Given the description of an element on the screen output the (x, y) to click on. 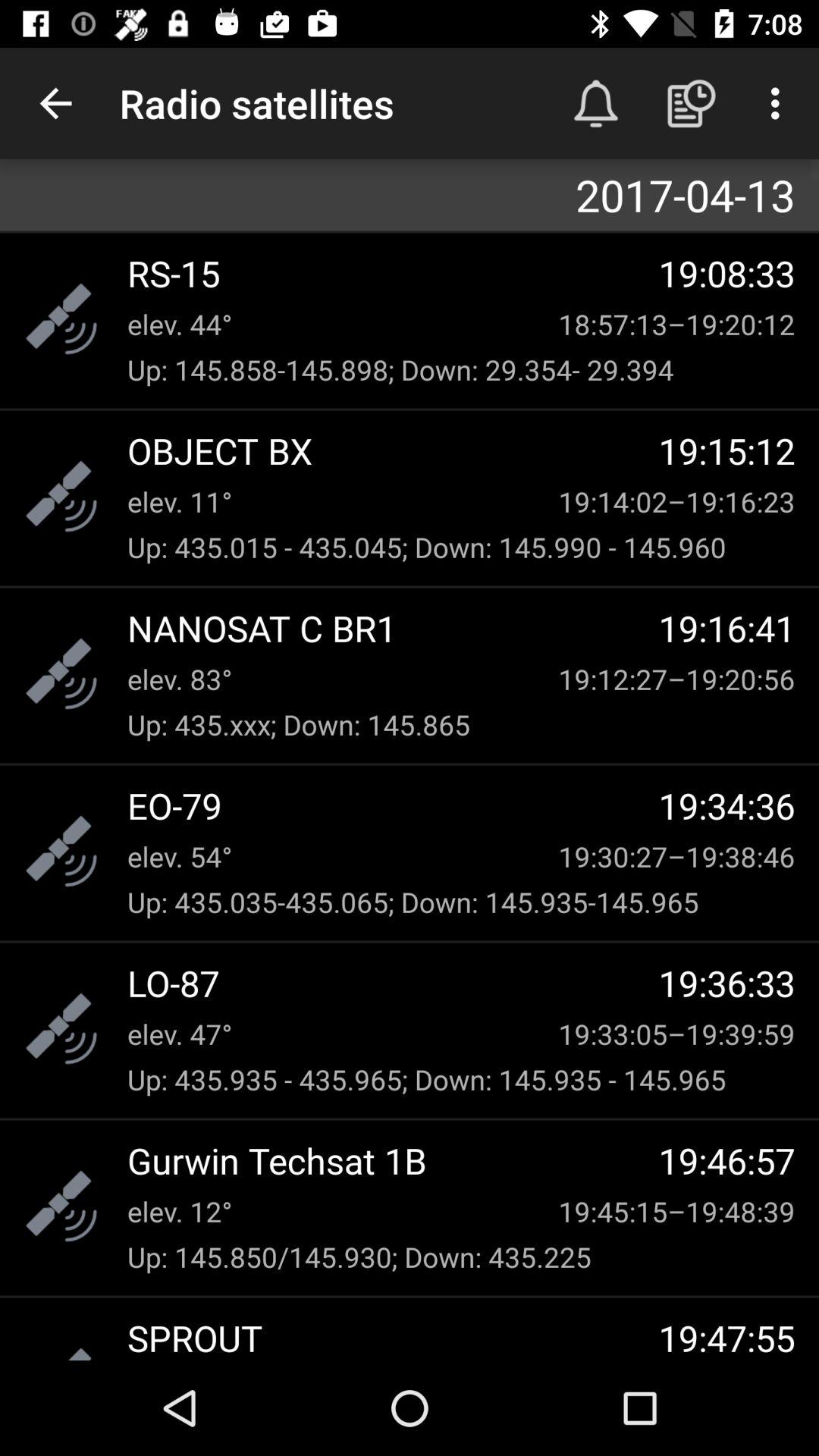
select the item below the up 145 850 icon (392, 1336)
